Given the description of an element on the screen output the (x, y) to click on. 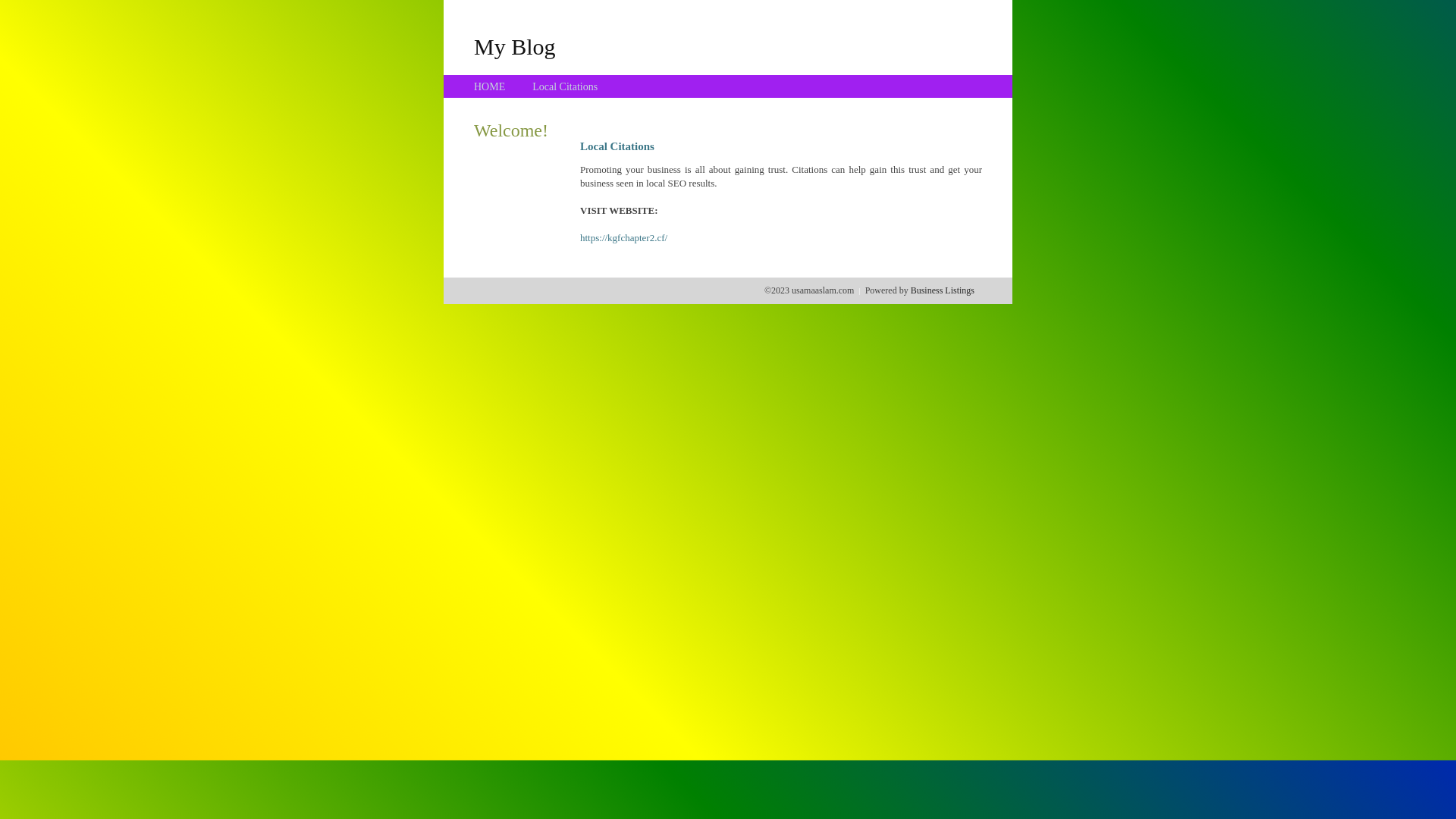
My Blog Element type: text (514, 46)
Business Listings Element type: text (942, 290)
HOME Element type: text (489, 86)
https://kgfchapter2.cf/ Element type: text (623, 237)
Local Citations Element type: text (564, 86)
